Given the description of an element on the screen output the (x, y) to click on. 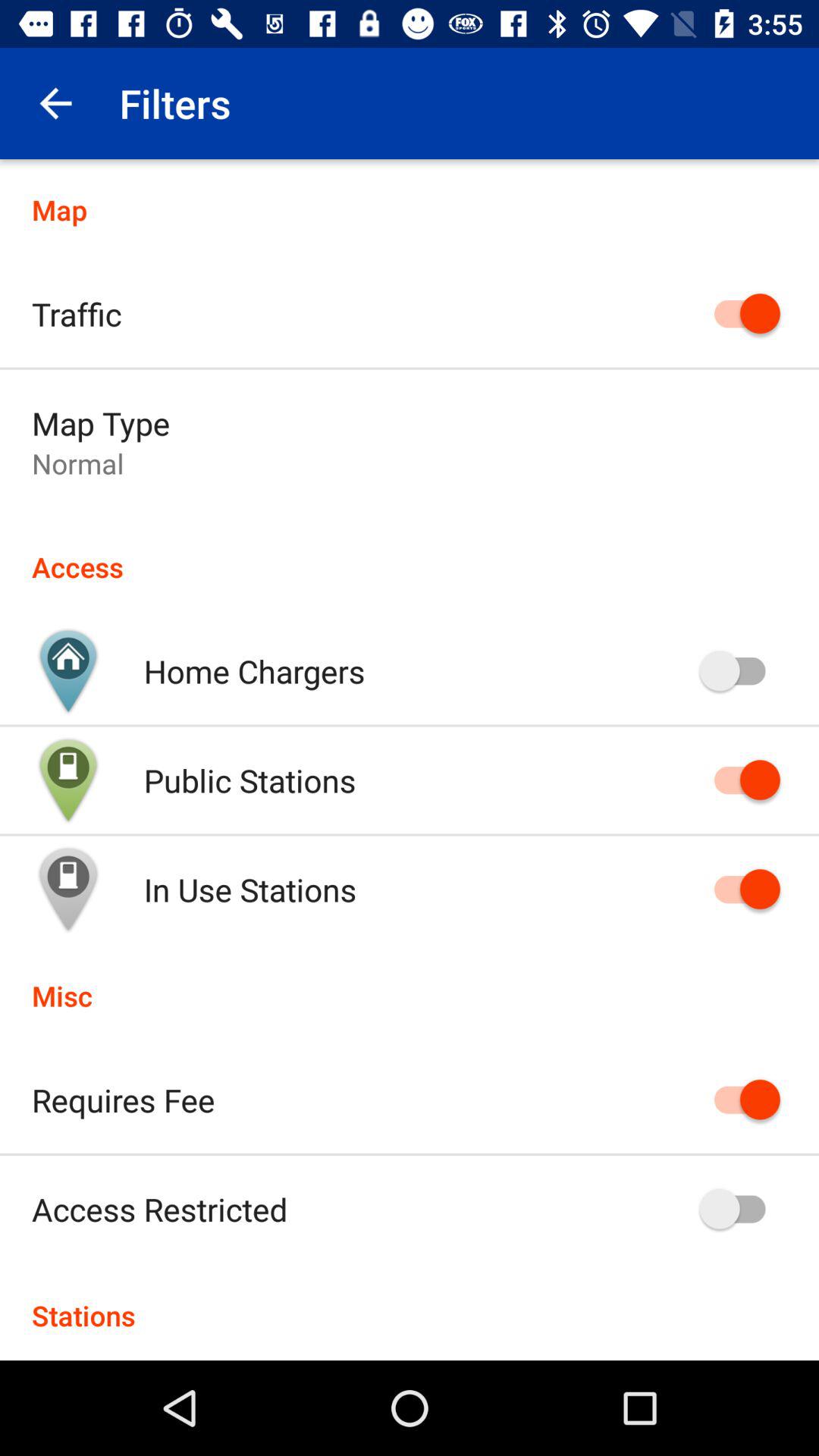
click icon above map item (55, 103)
